Given the description of an element on the screen output the (x, y) to click on. 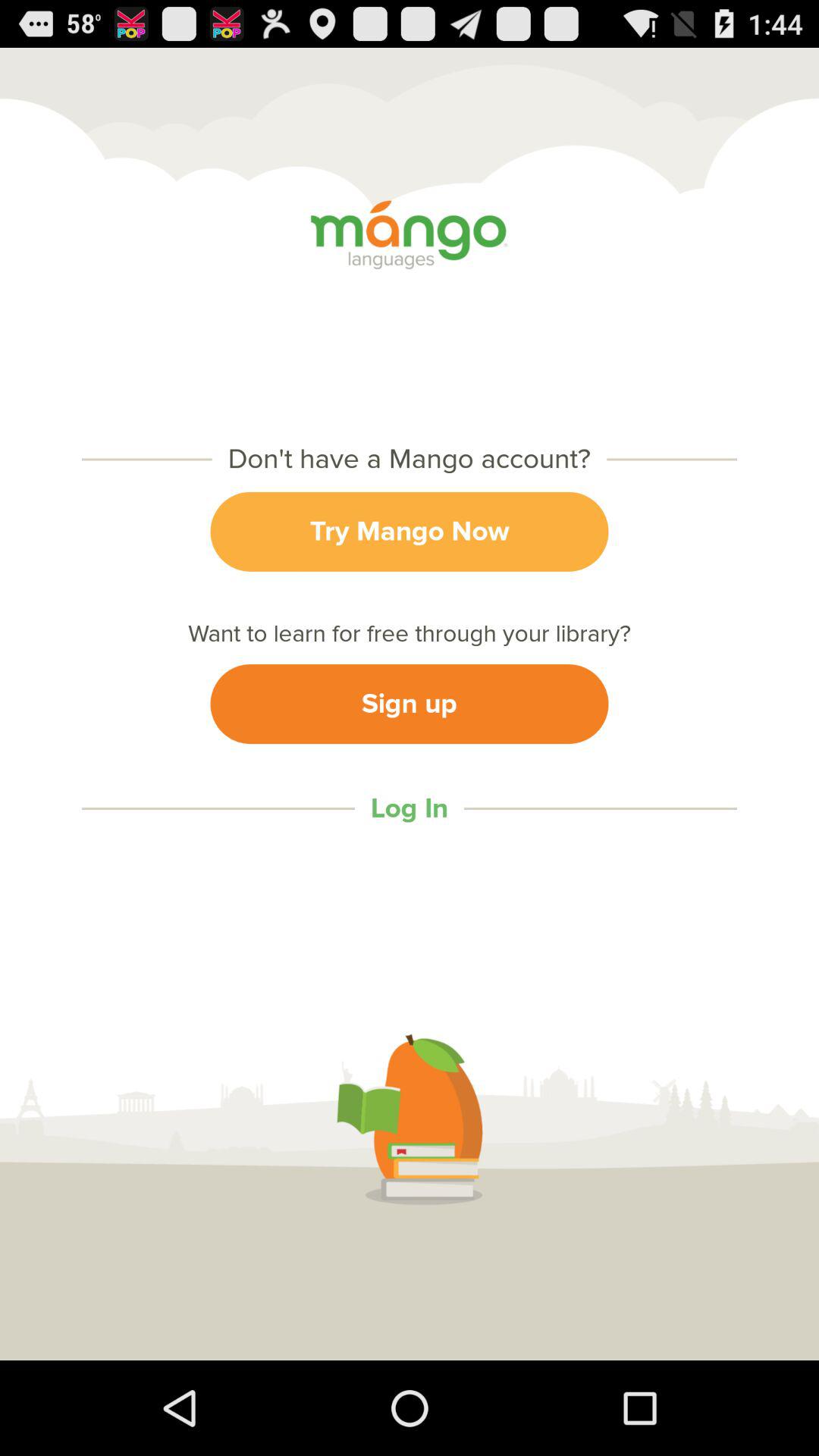
turn on item below the don t have icon (409, 531)
